Given the description of an element on the screen output the (x, y) to click on. 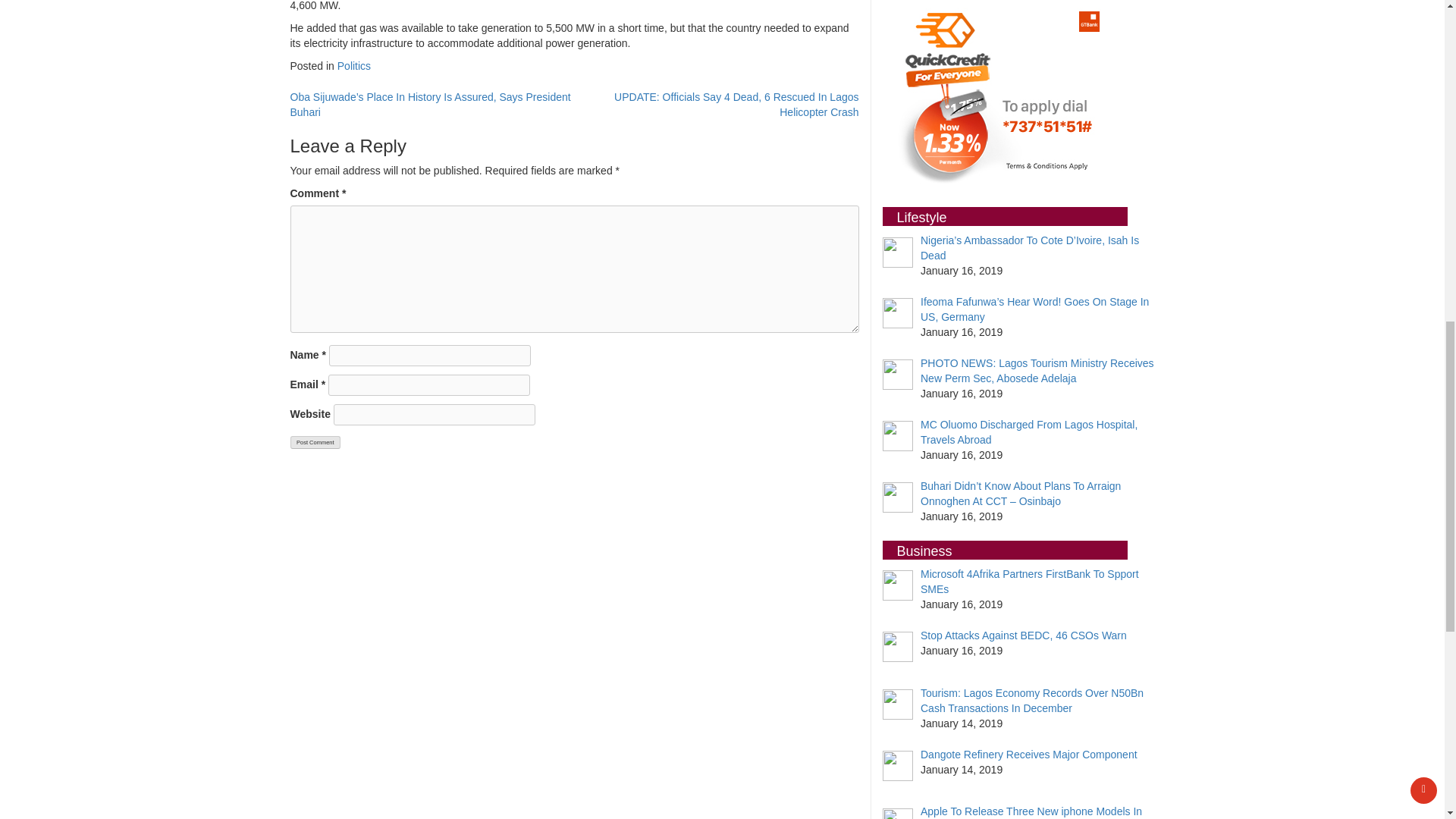
Post Comment (314, 441)
MC Oluomo Discharged From Lagos Hospital, Travels Abroad (1028, 431)
Post Comment (314, 441)
Apple To Release Three New iphone Models In 2019 (1030, 812)
Politics (354, 65)
Stop Attacks Against BEDC, 46 CSOs Warn (1023, 635)
Microsoft 4Afrika Partners FirstBank To Spport SMEs (1029, 581)
